Given the description of an element on the screen output the (x, y) to click on. 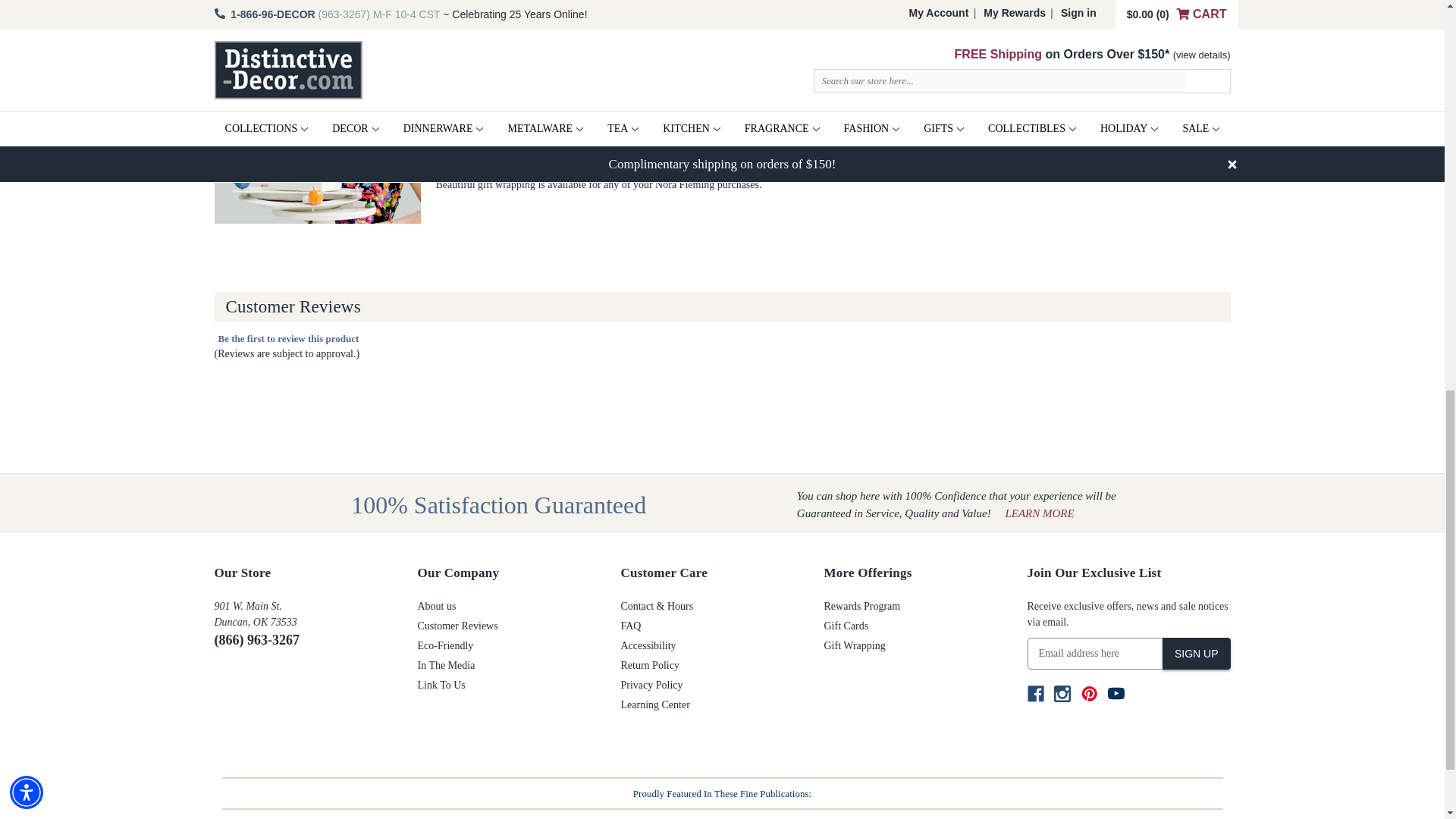
Sign Up (1195, 653)
Nora Fleming Platters with Decorative Mini Charms (317, 120)
